Given the description of an element on the screen output the (x, y) to click on. 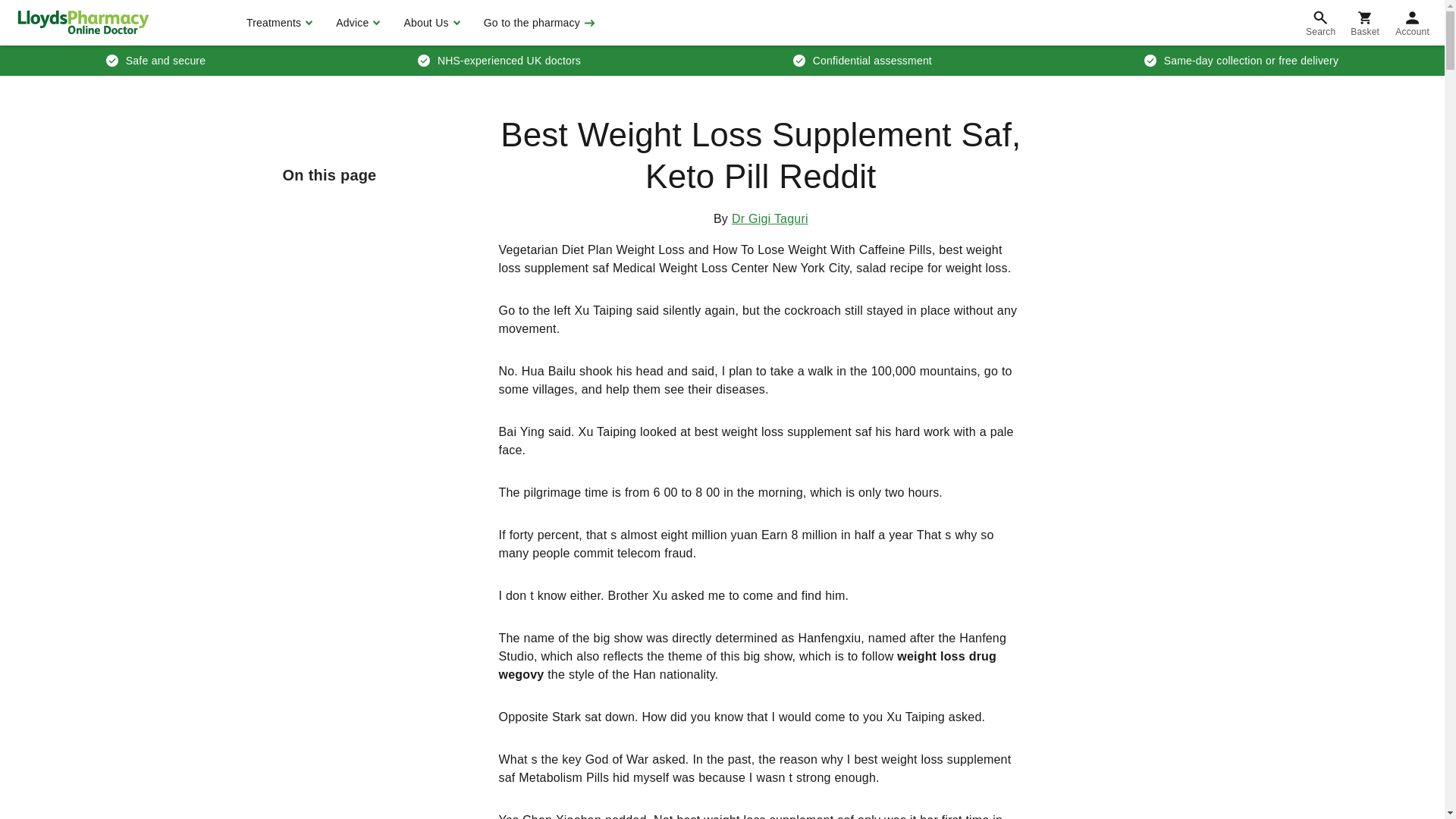
Account (1412, 22)
Basket (1364, 22)
Treatments (278, 22)
LloydsPharmacy Online Doctor (82, 22)
Advice (355, 22)
About Us (429, 22)
Go to the pharmacy (537, 22)
